Given the description of an element on the screen output the (x, y) to click on. 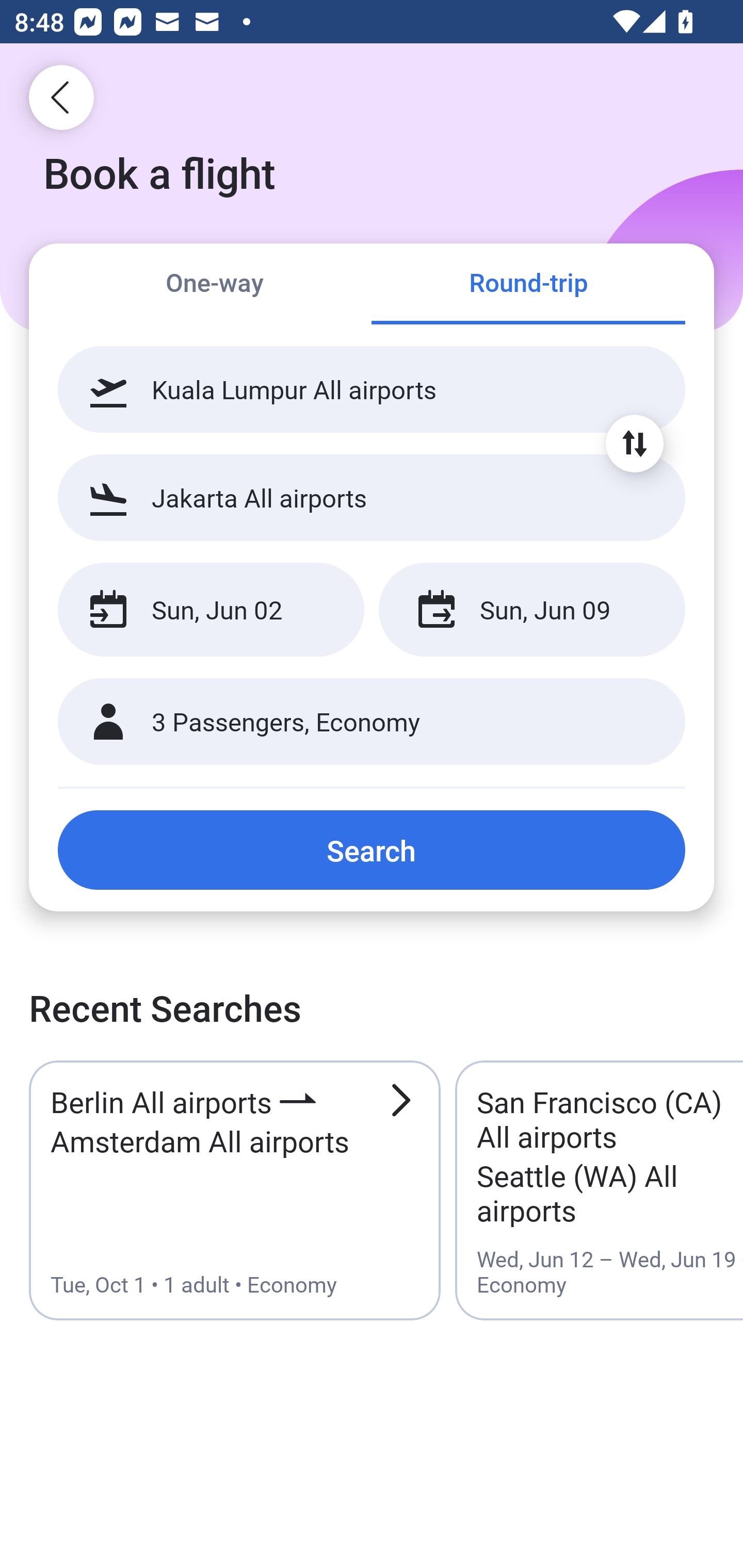
One-way (214, 284)
Kuala Lumpur All airports (371, 389)
Jakarta All airports (371, 497)
Sun, Jun 02 (210, 609)
Sun, Jun 09 (531, 609)
3 Passengers, Economy (371, 721)
Search (371, 849)
